Given the description of an element on the screen output the (x, y) to click on. 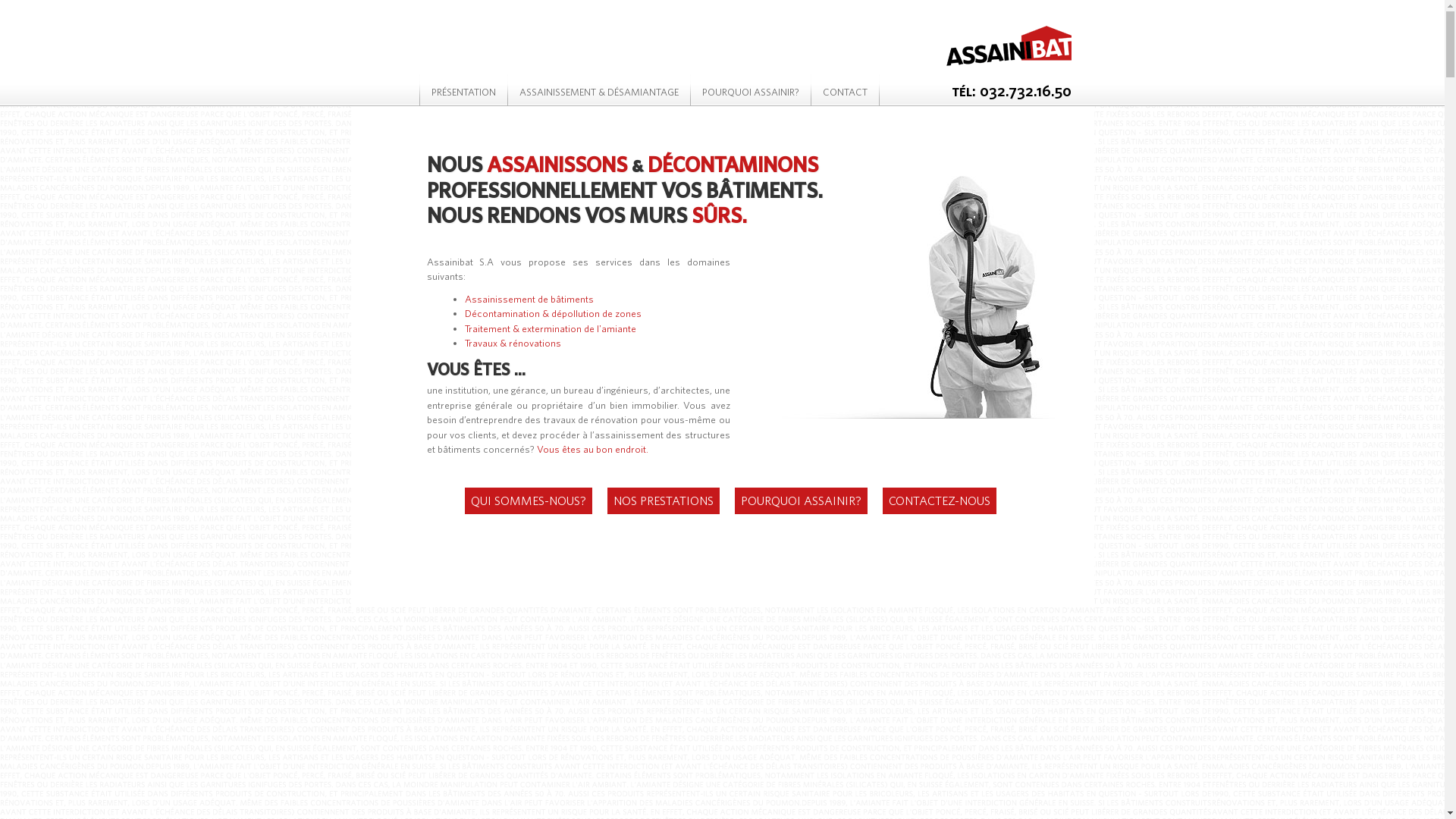
POURQUOI ASSAINIR? Element type: text (749, 86)
POURQUOI ASSAINIR? Element type: text (800, 500)
CONTACT Element type: text (844, 86)
Traitement & extermination de l'amiante Element type: text (549, 328)
CONTACTEZ-NOUS Element type: text (939, 500)
QUI SOMMES-NOUS? Element type: text (527, 500)
NOS PRESTATIONS Element type: text (662, 500)
